Given the description of an element on the screen output the (x, y) to click on. 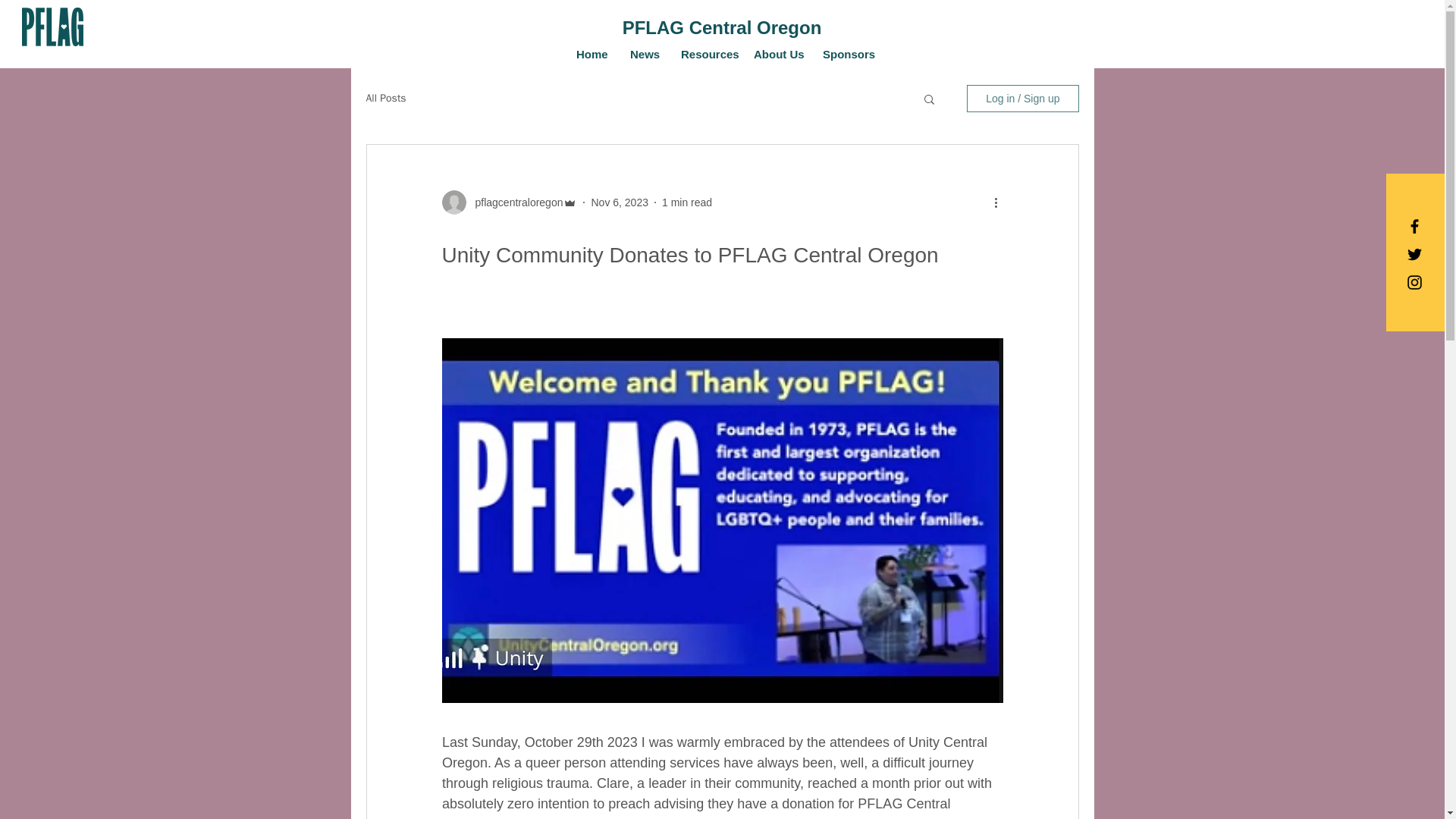
pflag2.png (51, 26)
Sponsors (844, 54)
1 min read (686, 201)
All Posts (385, 98)
pflagcentraloregon (513, 201)
Resources (705, 54)
Nov 6, 2023 (619, 201)
PFLAG Central Oregon (721, 27)
Home (591, 54)
News (643, 54)
